Given the description of an element on the screen output the (x, y) to click on. 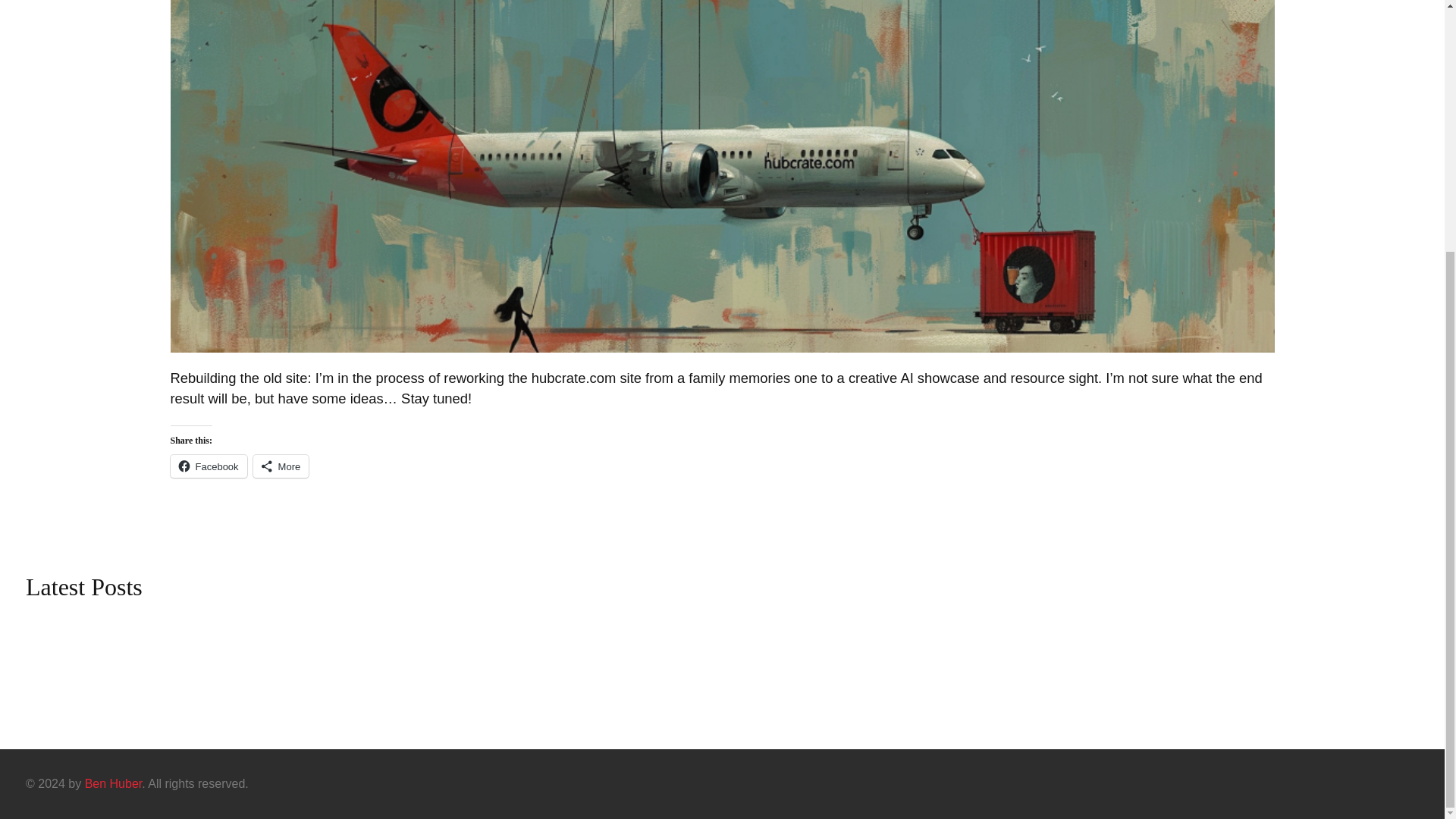
Click to share on Facebook (208, 466)
More (280, 466)
Ben Huber (113, 783)
hubcrate.com (113, 783)
Facebook (208, 466)
